Given the description of an element on the screen output the (x, y) to click on. 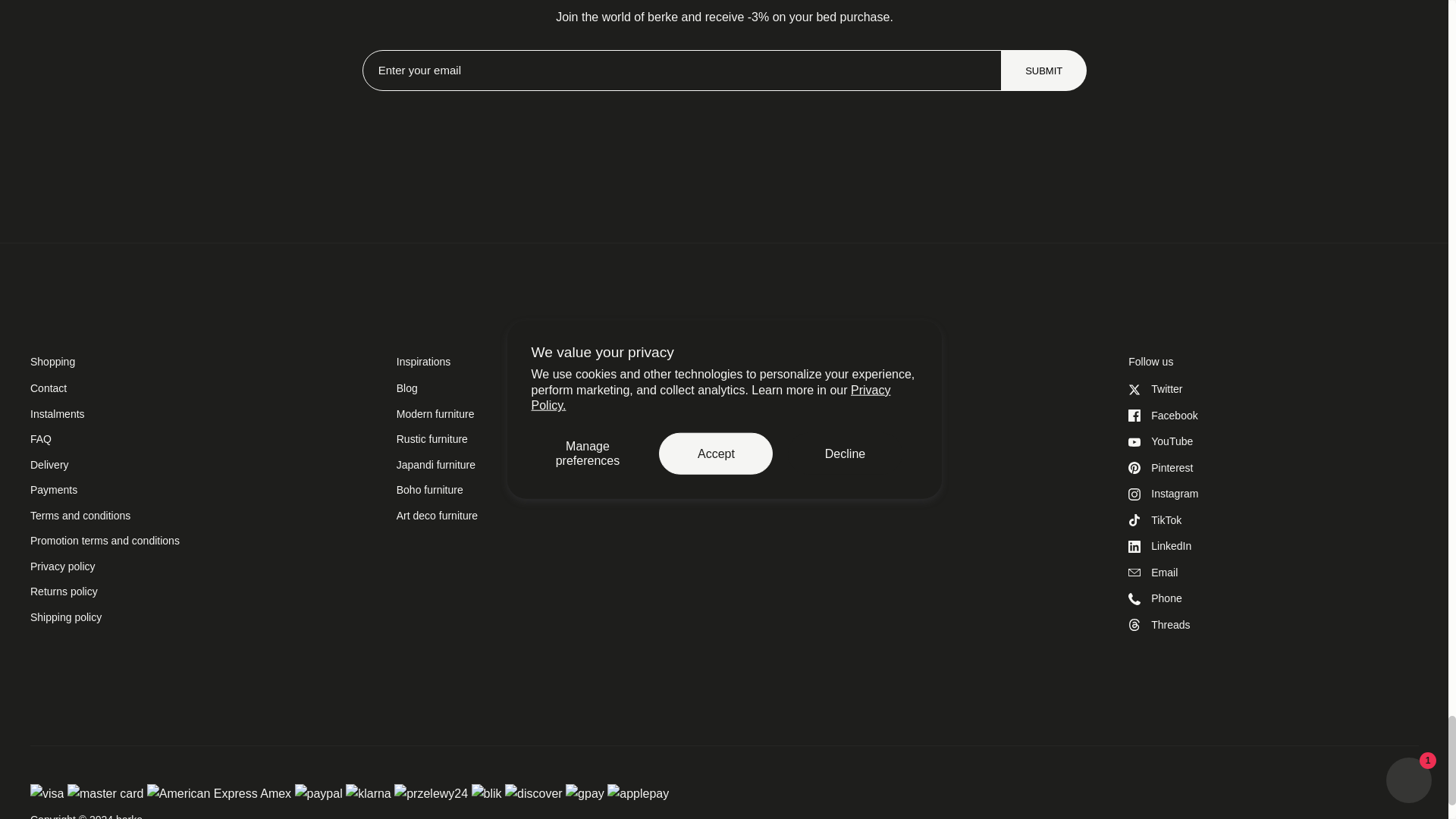
SUBMIT (1043, 70)
